Given the description of an element on the screen output the (x, y) to click on. 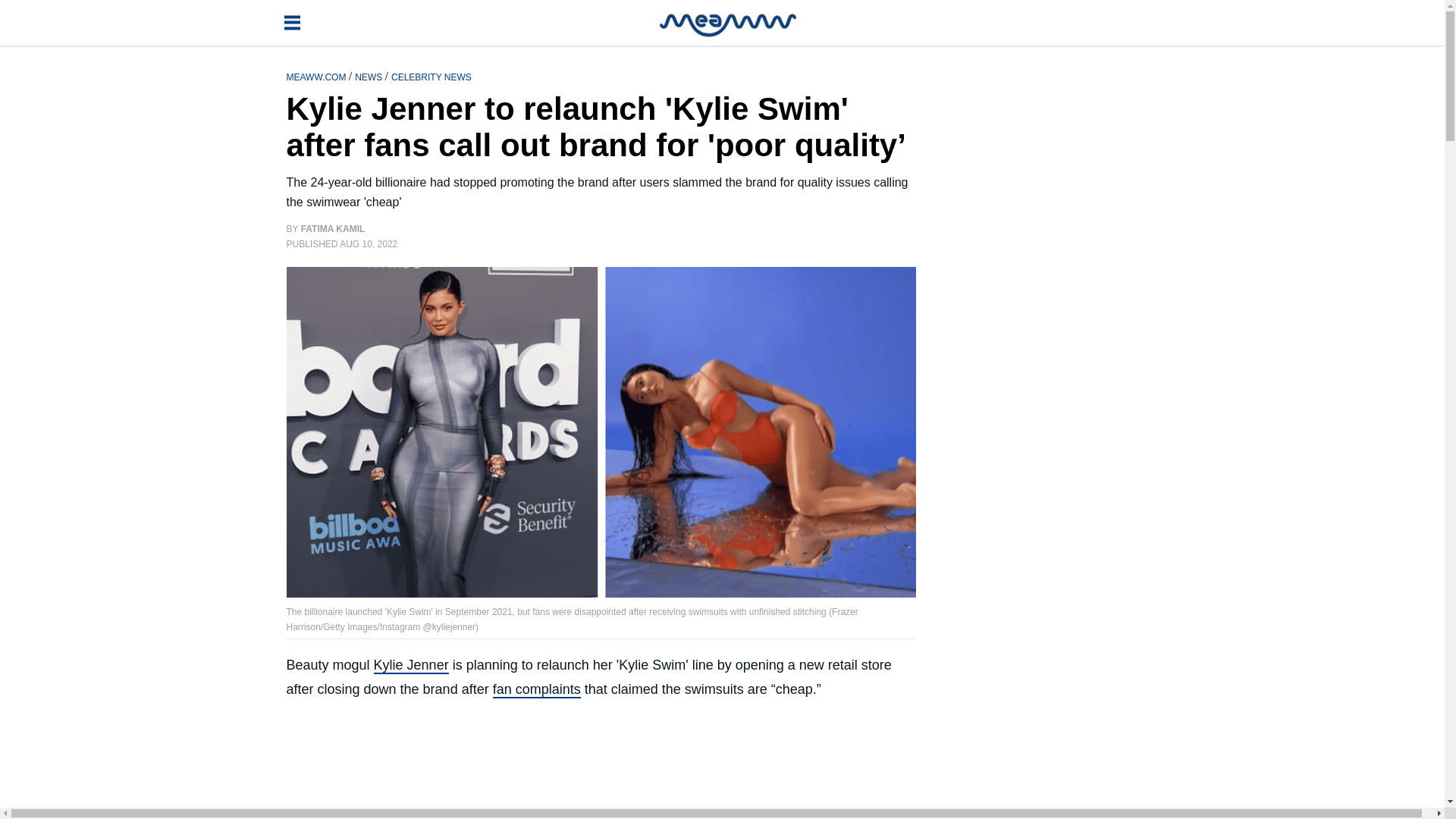
fan complaints (536, 689)
MEAWW.COM (317, 75)
CELEBRITY NEWS (431, 75)
FATIMA KAMIL (333, 228)
Kylie Jenner (411, 665)
NEWS (369, 75)
